Given the description of an element on the screen output the (x, y) to click on. 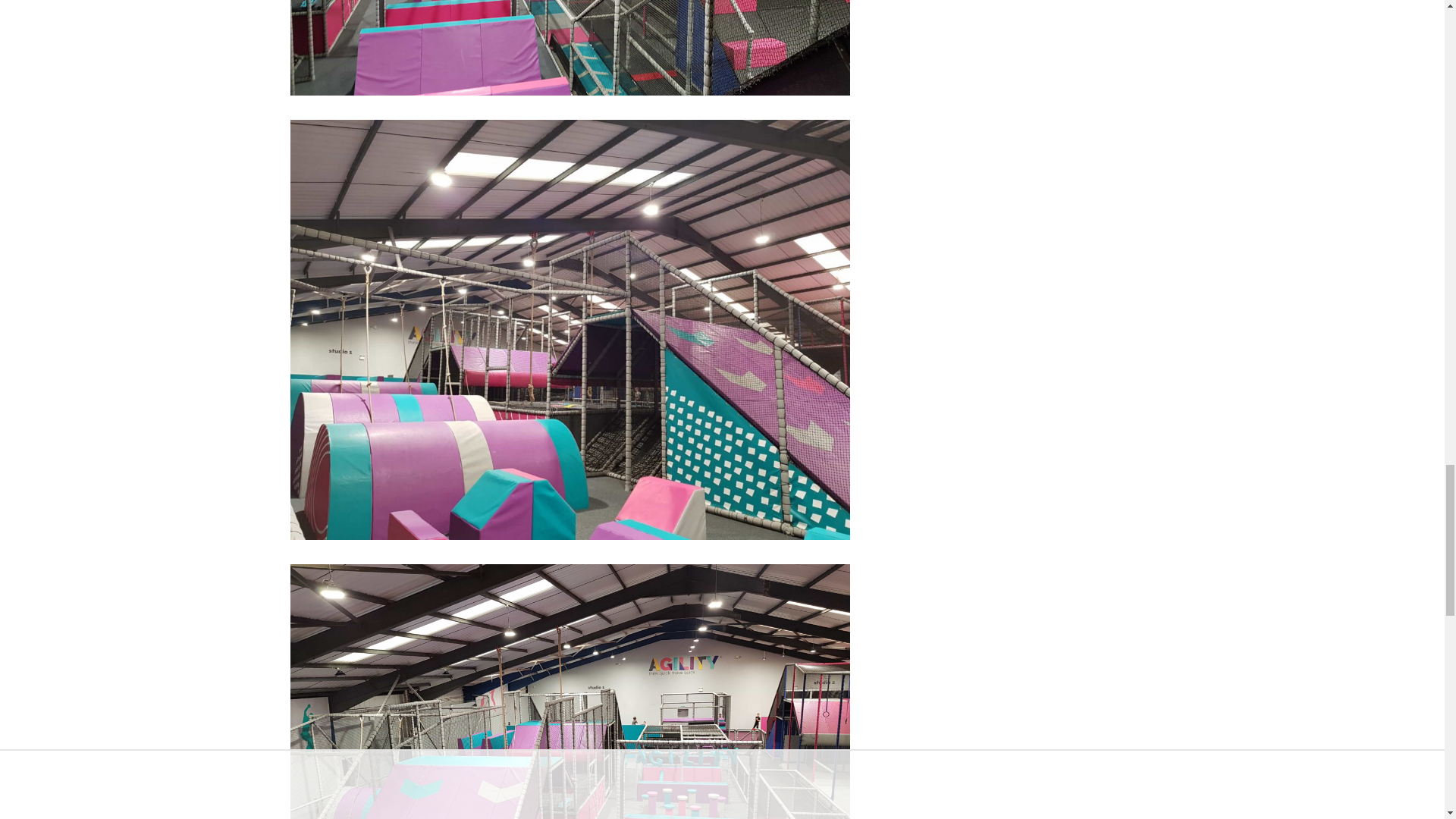
Agility Parks York 1 (569, 47)
